Given the description of an element on the screen output the (x, y) to click on. 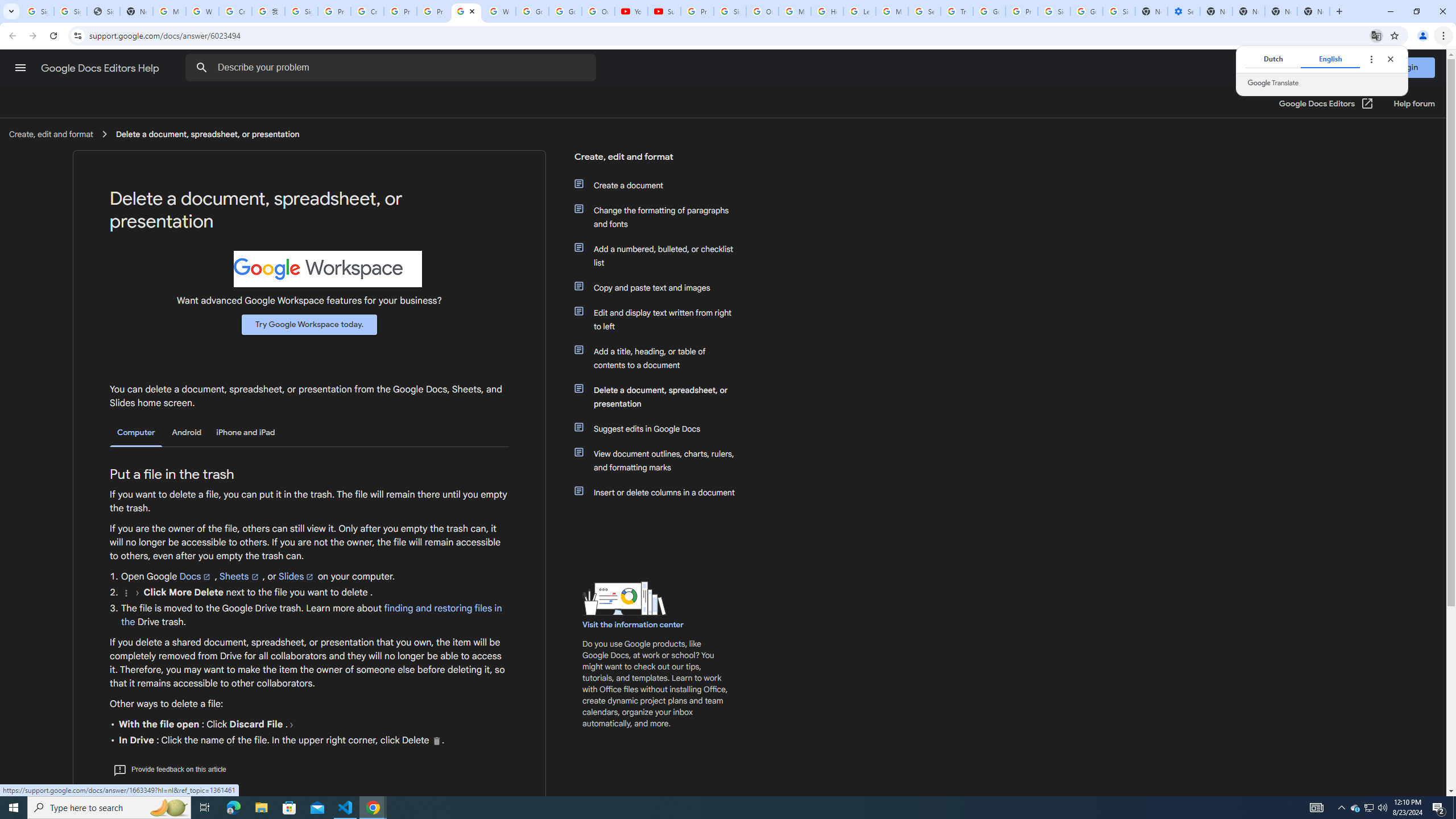
Sign in - Google Accounts (1053, 11)
Insert or delete columns in a document (661, 492)
Create your Google Account (235, 11)
Sheets (239, 576)
iPhone and iPad (245, 432)
Welcome to My Activity (499, 11)
Edit and display text written from right to left (661, 319)
English (1329, 58)
